Given the description of an element on the screen output the (x, y) to click on. 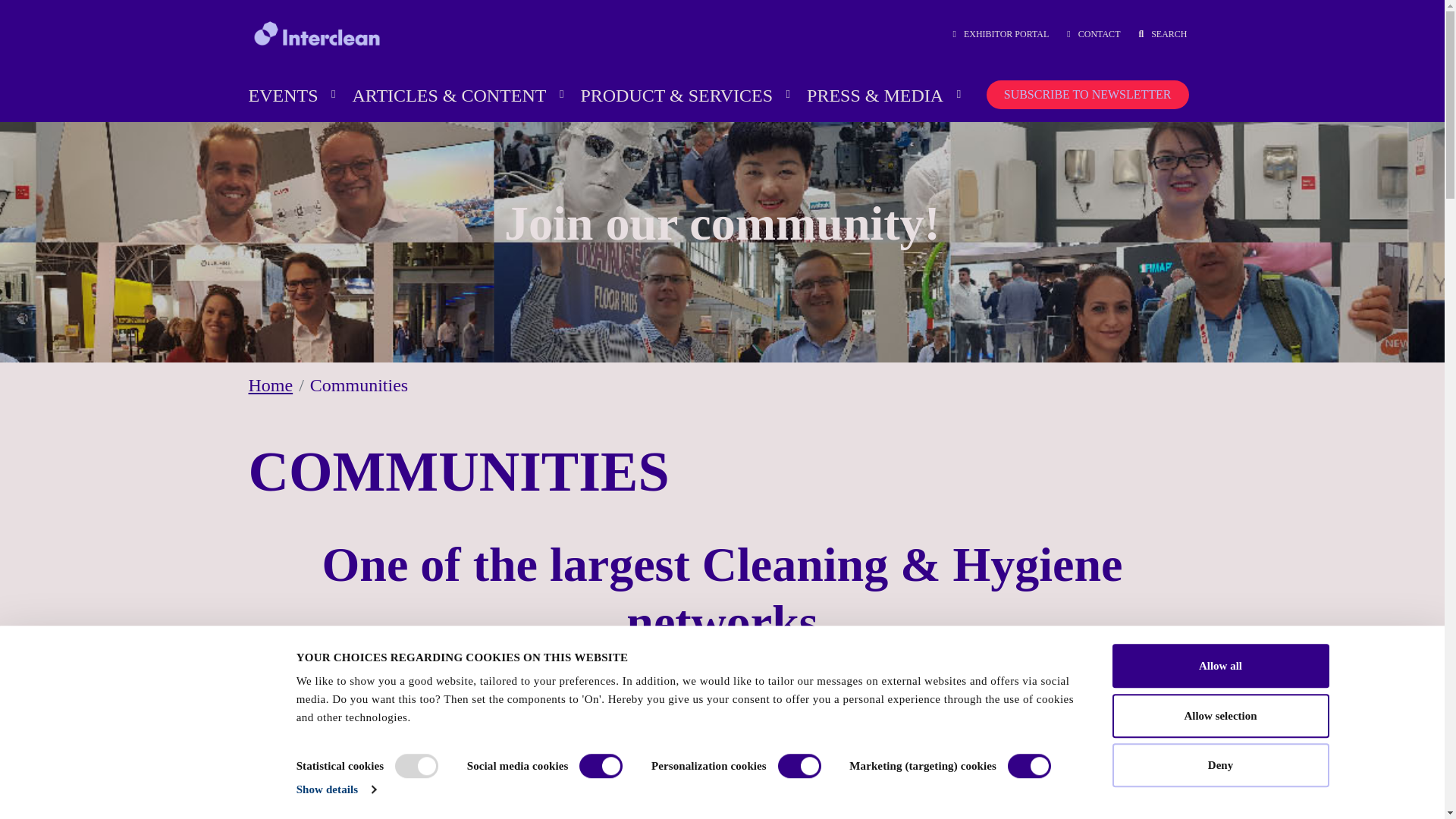
Show details (336, 789)
